Given the description of an element on the screen output the (x, y) to click on. 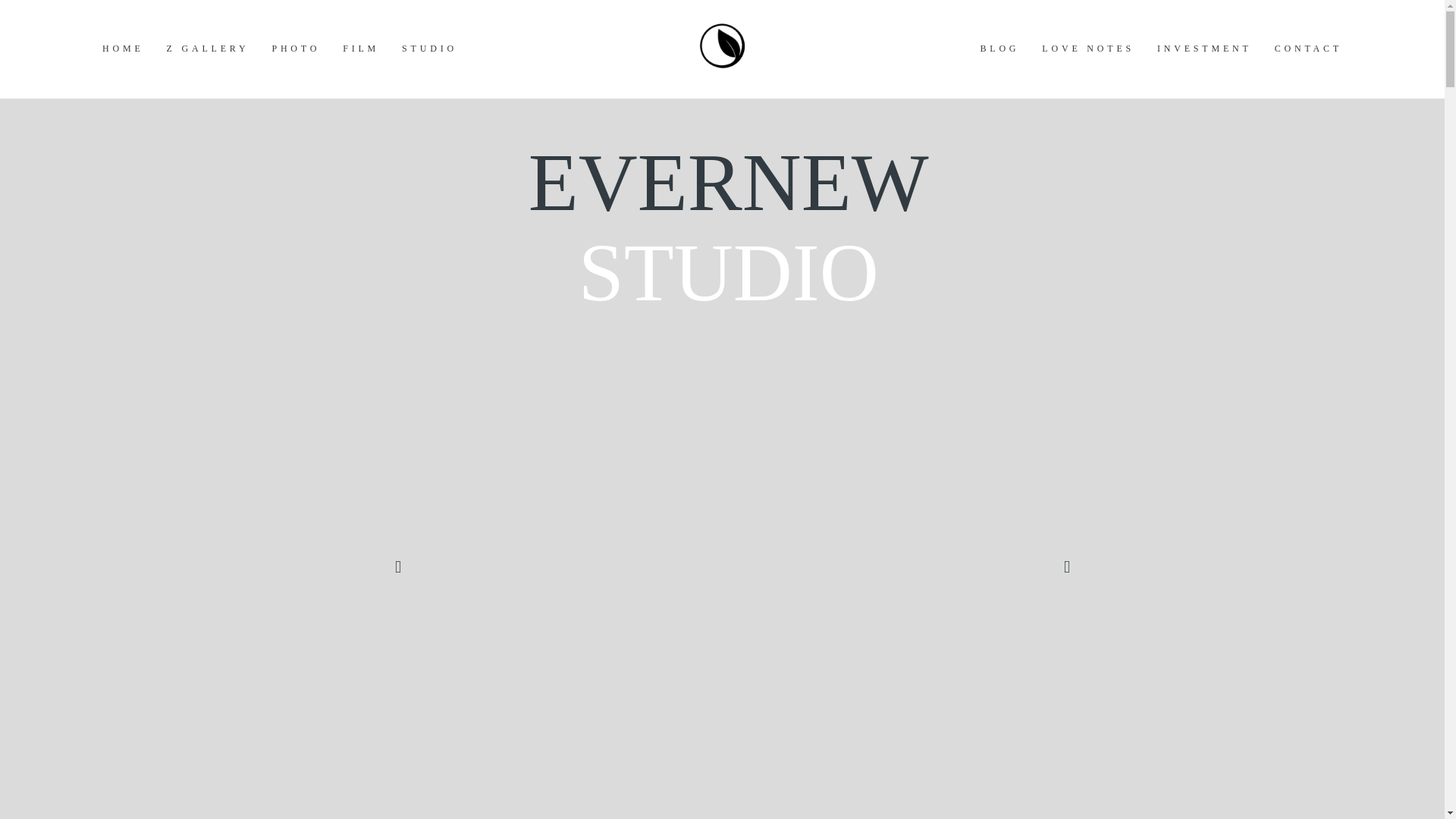
STUDIO (429, 49)
LOVE NOTES (1088, 49)
PHOTO (295, 49)
HOME (122, 49)
INVESTMENT (1204, 49)
BLOG (999, 49)
Z GALLERY (207, 49)
CONTACT (1308, 49)
FILM (360, 49)
